Given the description of an element on the screen output the (x, y) to click on. 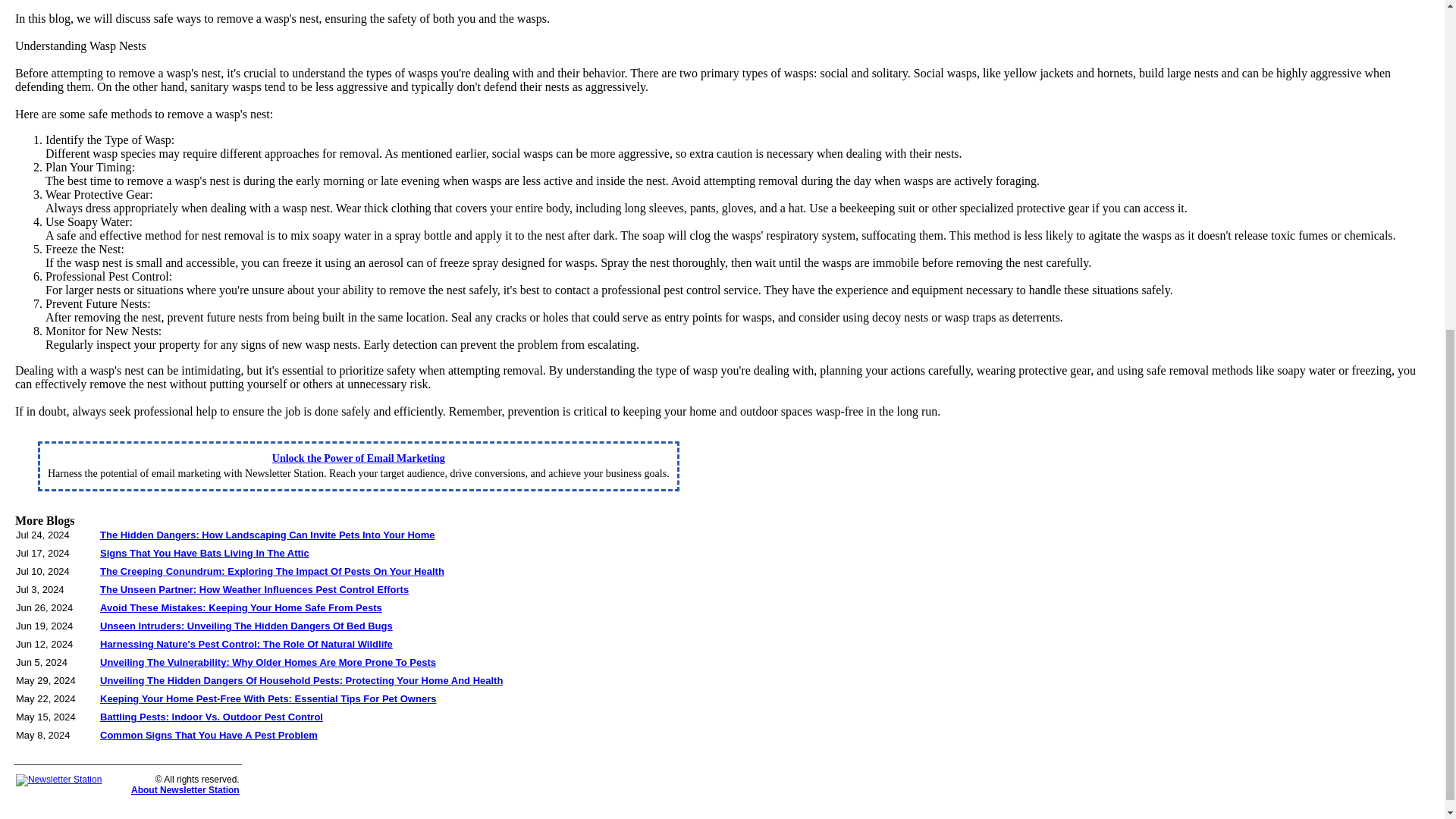
Avoid These Mistakes: Keeping Your Home Safe From Pests (240, 607)
Signs That You Have Bats Living In The Attic (204, 552)
Common Signs That You Have A Pest Problem (208, 735)
Unlock the Power of Email Marketing (358, 458)
About Newsletter Station (185, 789)
Battling Pests: Indoor Vs. Outdoor Pest Control (211, 716)
Unseen Intruders: Unveiling The Hidden Dangers Of Bed Bugs (246, 625)
